Given the description of an element on the screen output the (x, y) to click on. 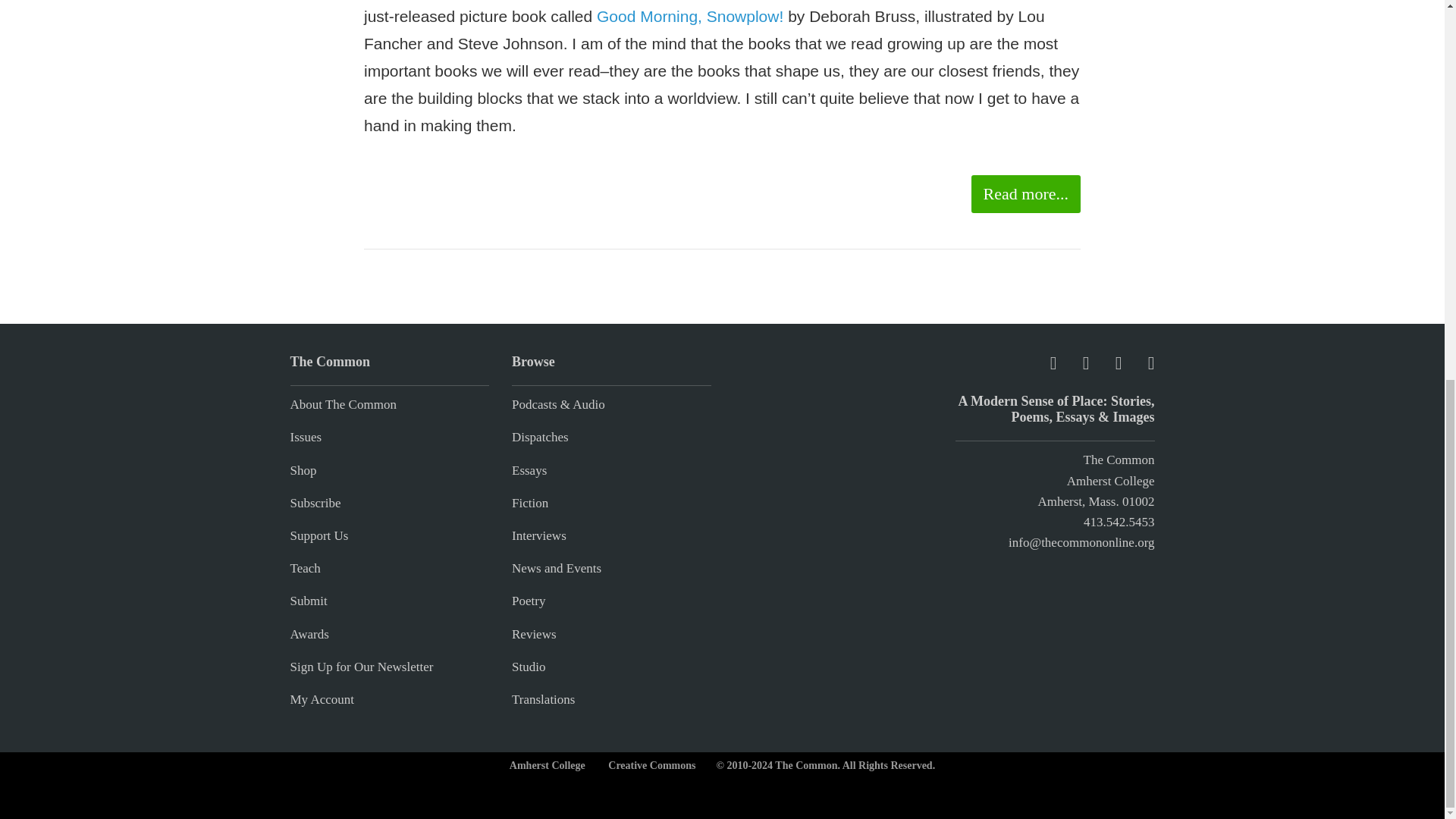
Read more... (1025, 193)
Reviews (534, 634)
Poetry (528, 600)
Interviews (539, 535)
News and Events (556, 568)
Teach (304, 568)
Studio (528, 667)
Shop (302, 470)
Dispatches (540, 436)
Submit (307, 600)
